Given the description of an element on the screen output the (x, y) to click on. 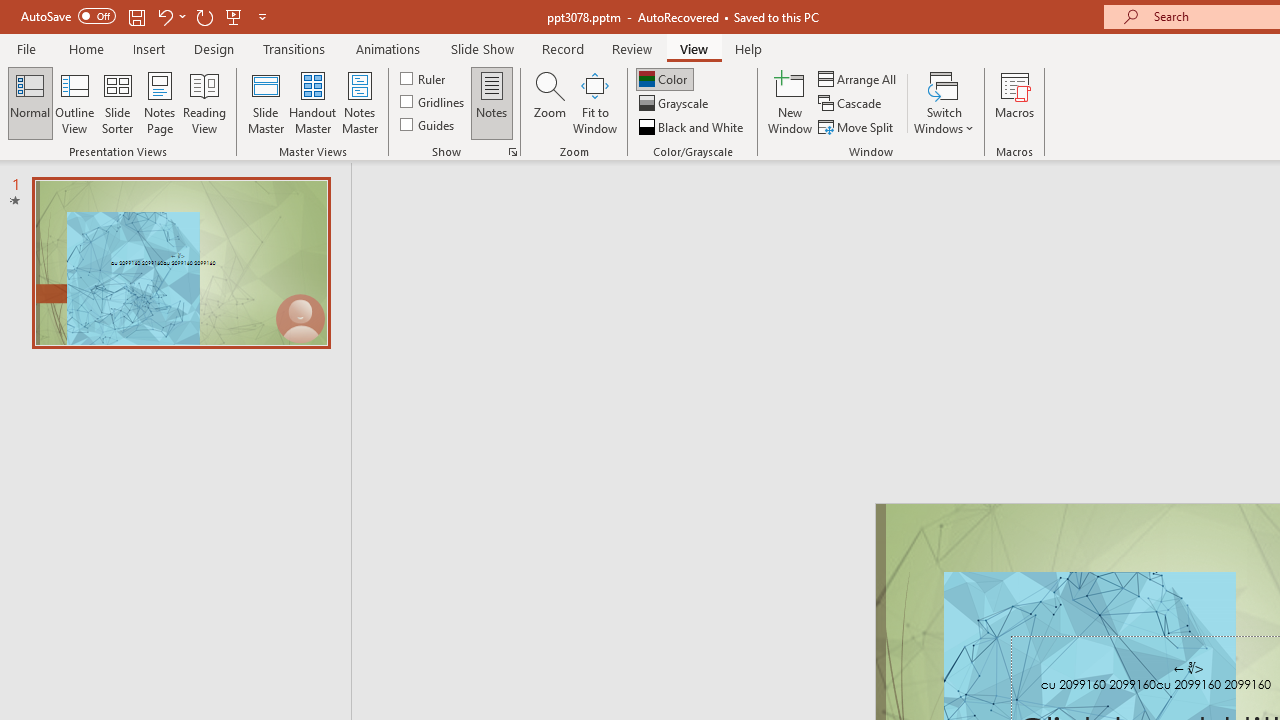
Notes (492, 102)
Slide Master (265, 102)
Move Split (857, 126)
Notes Master (360, 102)
New Window (790, 102)
Grid Settings... (512, 151)
Gridlines (433, 101)
Notes Page (159, 102)
